Given the description of an element on the screen output the (x, y) to click on. 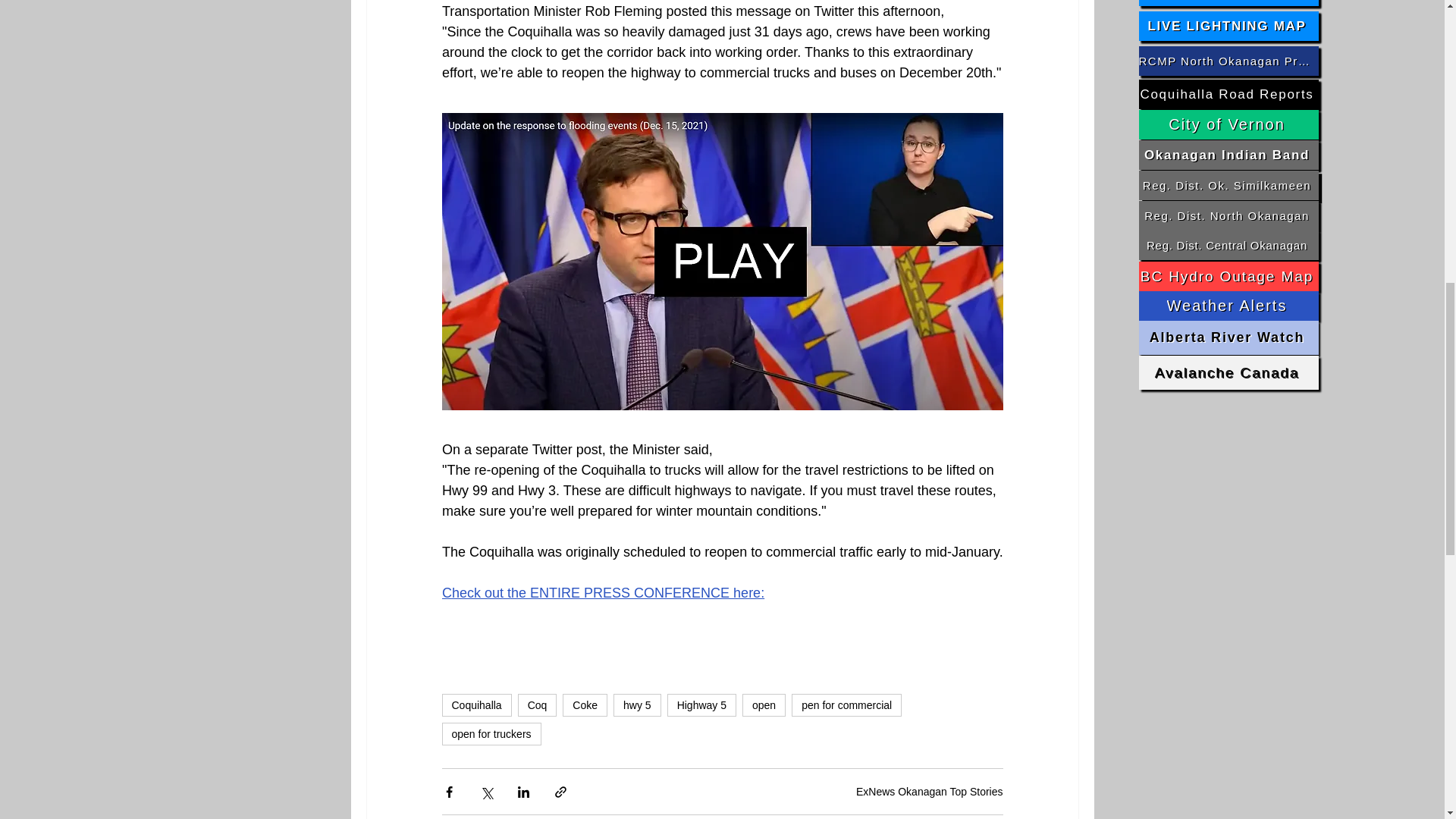
ExNews Okanagan Top Stories (929, 791)
open (764, 704)
open for truckers (490, 733)
Highway 5 (701, 704)
Coke (584, 704)
hwy 5 (636, 704)
pen for commercial (846, 704)
Coquihalla (476, 704)
Check out the ENTIRE PRESS CONFERENCE here: (601, 592)
Coq (537, 704)
